Given the description of an element on the screen output the (x, y) to click on. 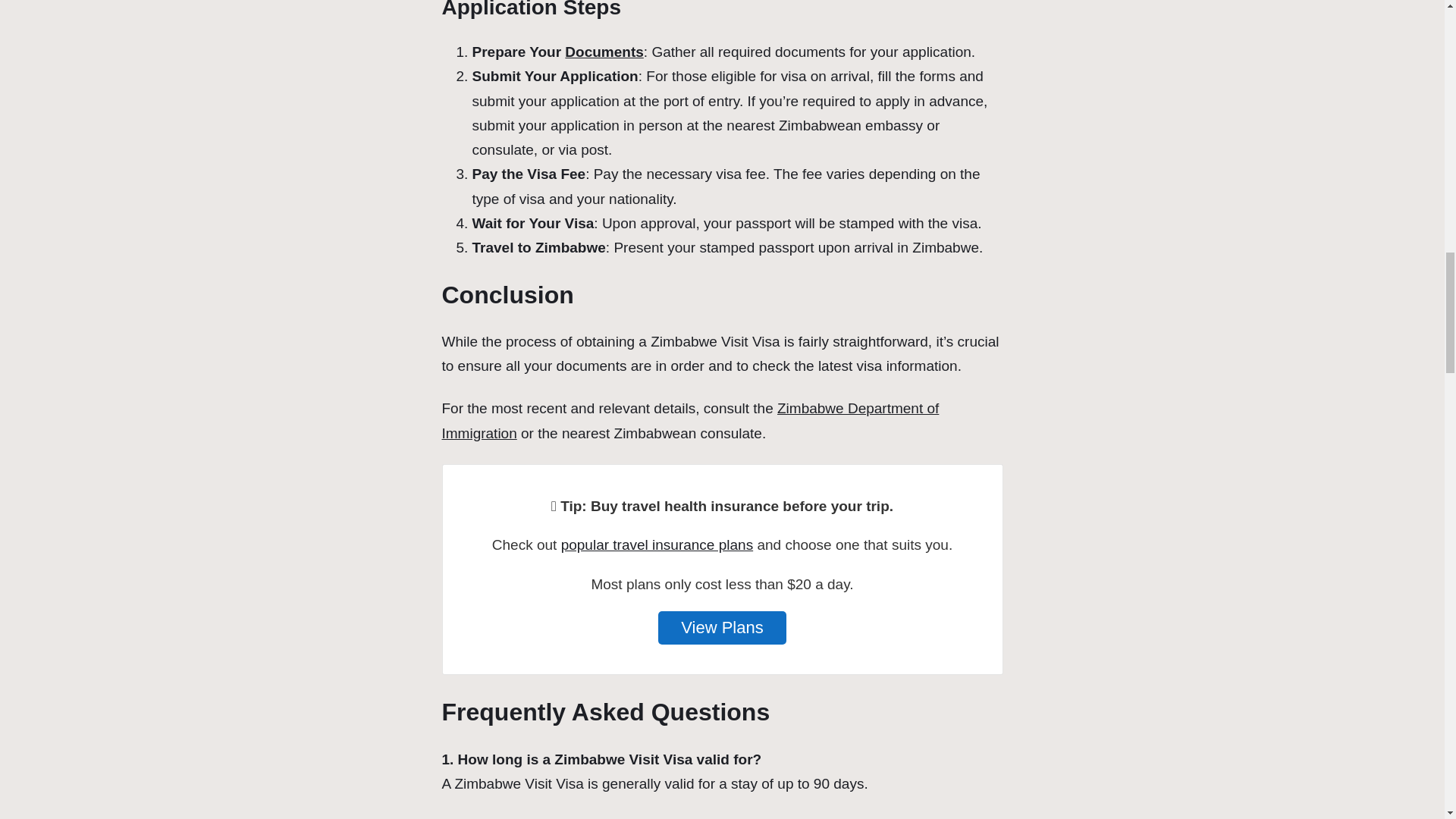
View Plans (722, 627)
popular travel insurance plans (657, 544)
extend (519, 818)
Zimbabwe Department of Immigration (690, 420)
Documents (603, 51)
